Given the description of an element on the screen output the (x, y) to click on. 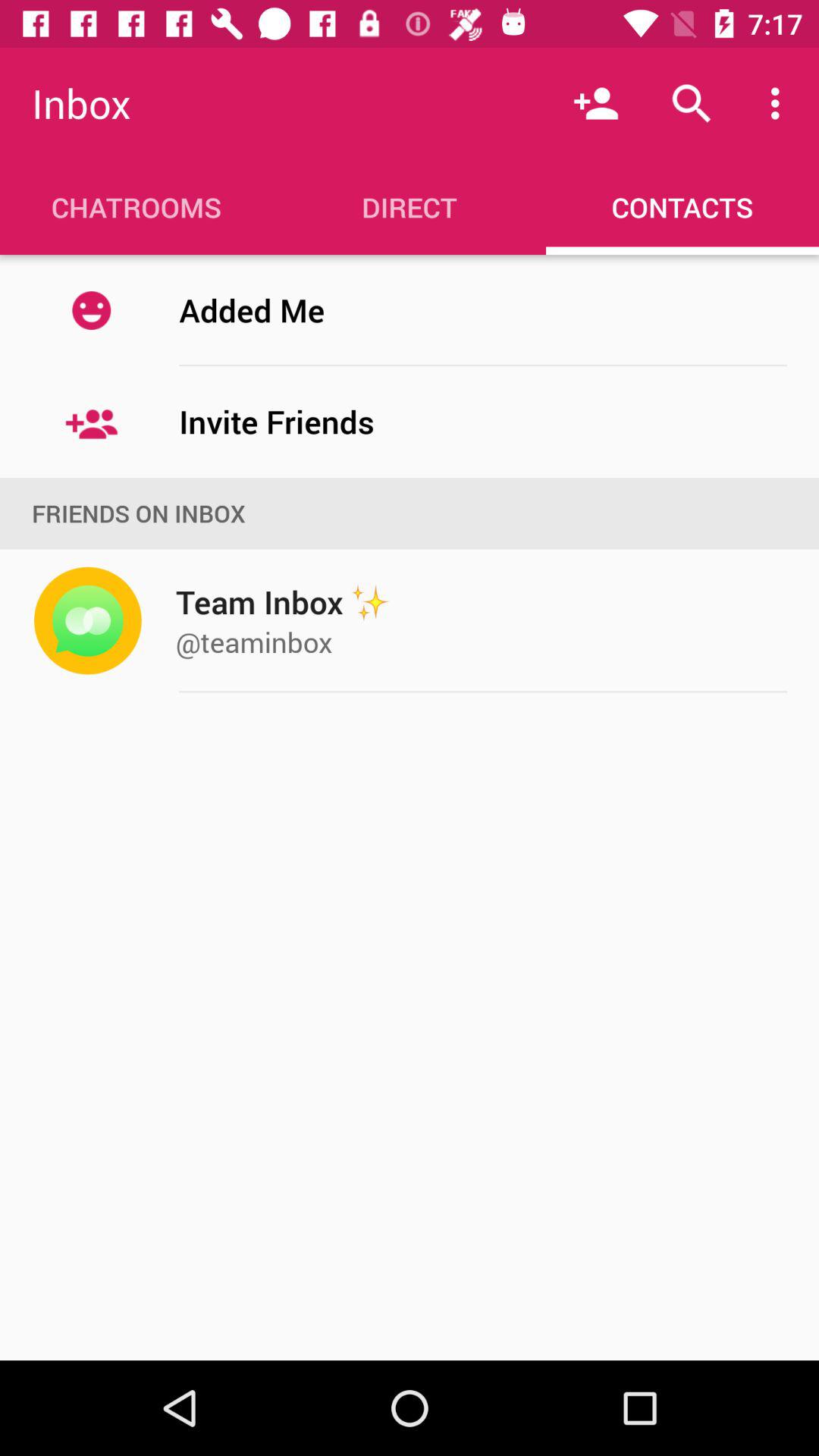
choose the item above contacts item (779, 103)
